Given the description of an element on the screen output the (x, y) to click on. 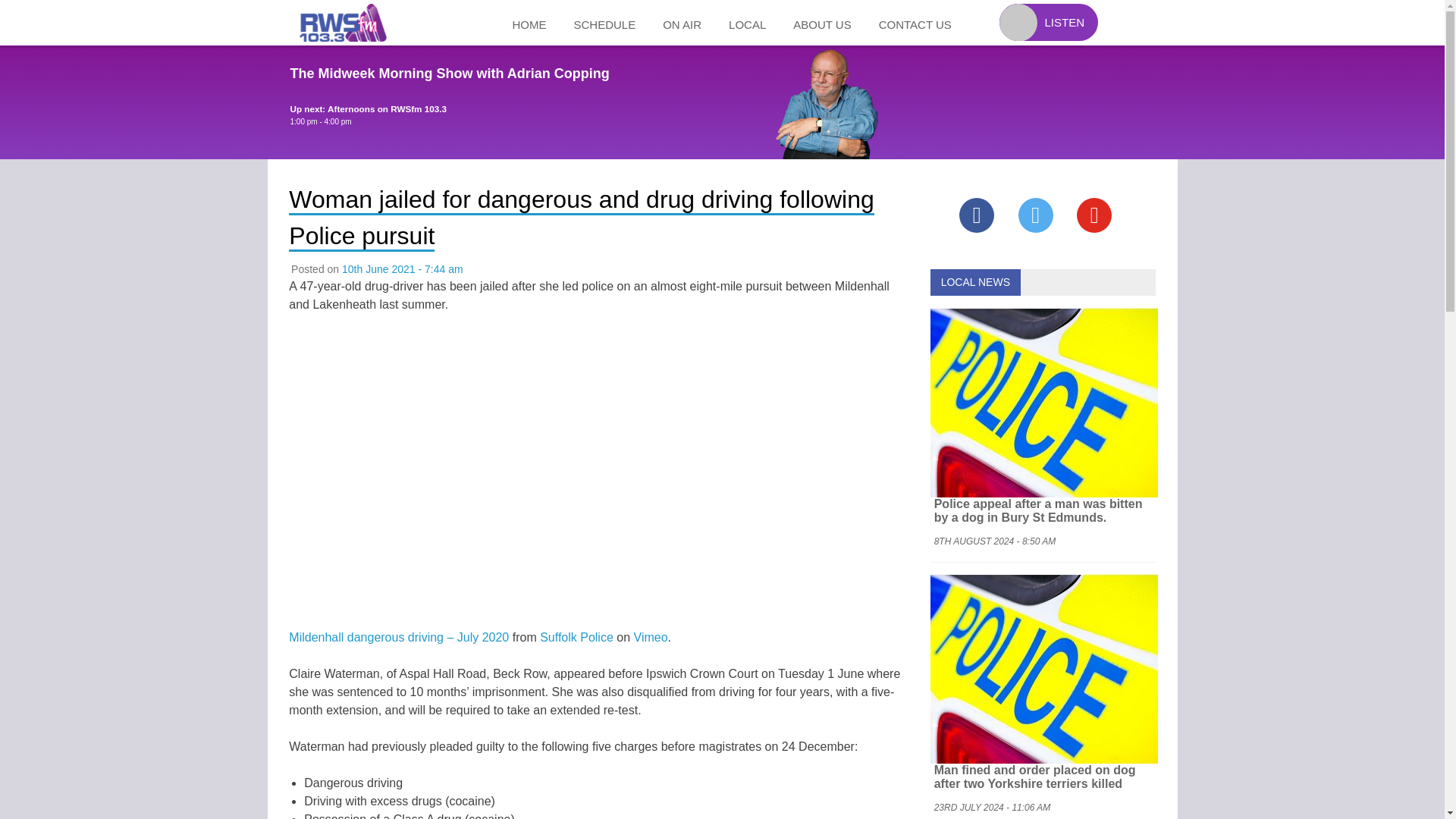
ON AIR (681, 22)
SCHEDULE (604, 22)
10th June 2021 - 7:44 am (402, 268)
ABOUT US (821, 22)
LOCAL (746, 22)
7:44 am (402, 268)
The Midweek Morning Show with Adrian Copping (448, 73)
HOME (529, 22)
CONTACT US (914, 22)
